Given the description of an element on the screen output the (x, y) to click on. 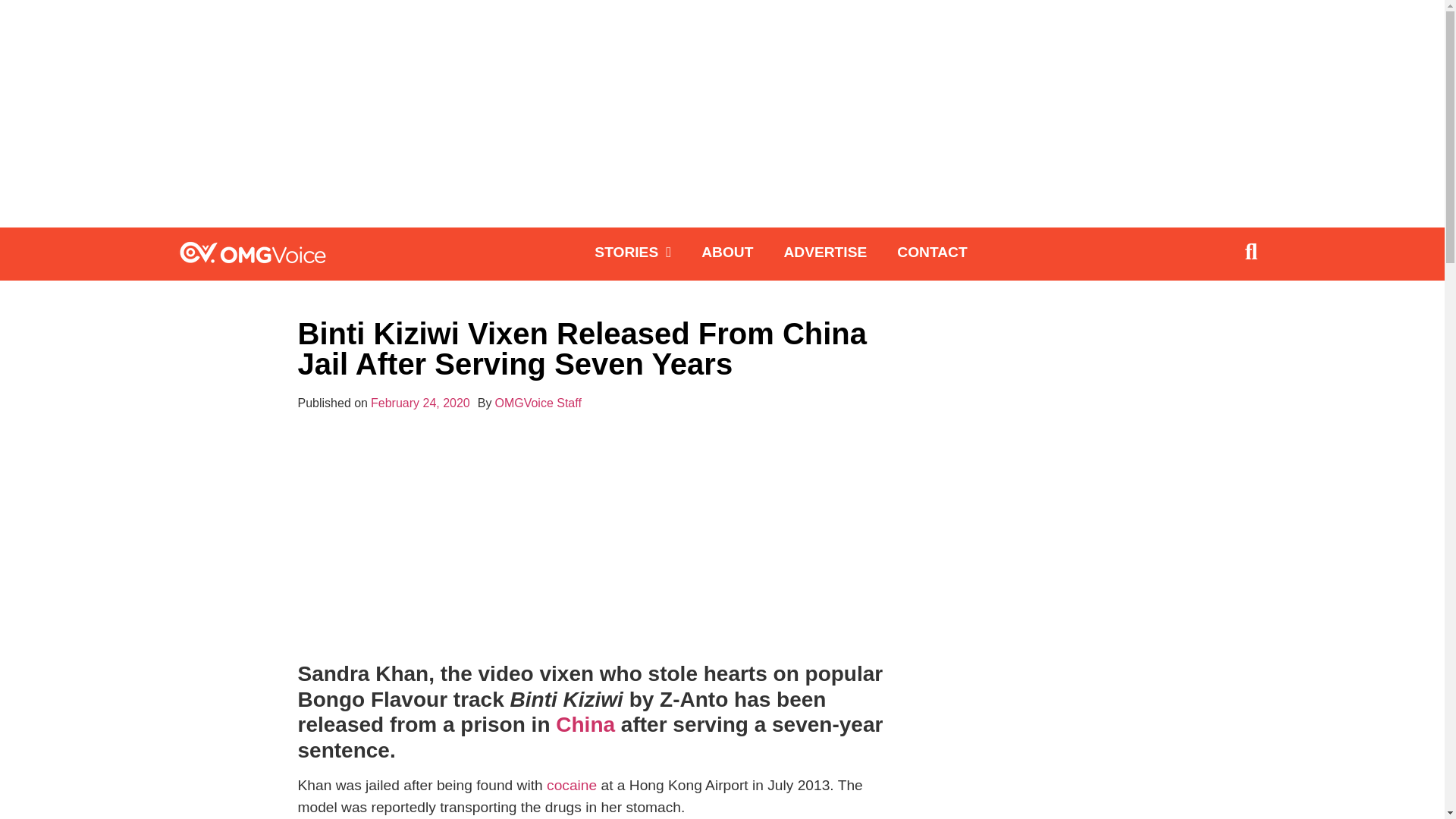
OMGVoice Staff (537, 402)
ABOUT (726, 252)
ADVERTISE (825, 252)
STORIES (632, 252)
China (585, 724)
February 24, 2020 (420, 402)
CONTACT (931, 252)
cocaine (571, 785)
